Given the description of an element on the screen output the (x, y) to click on. 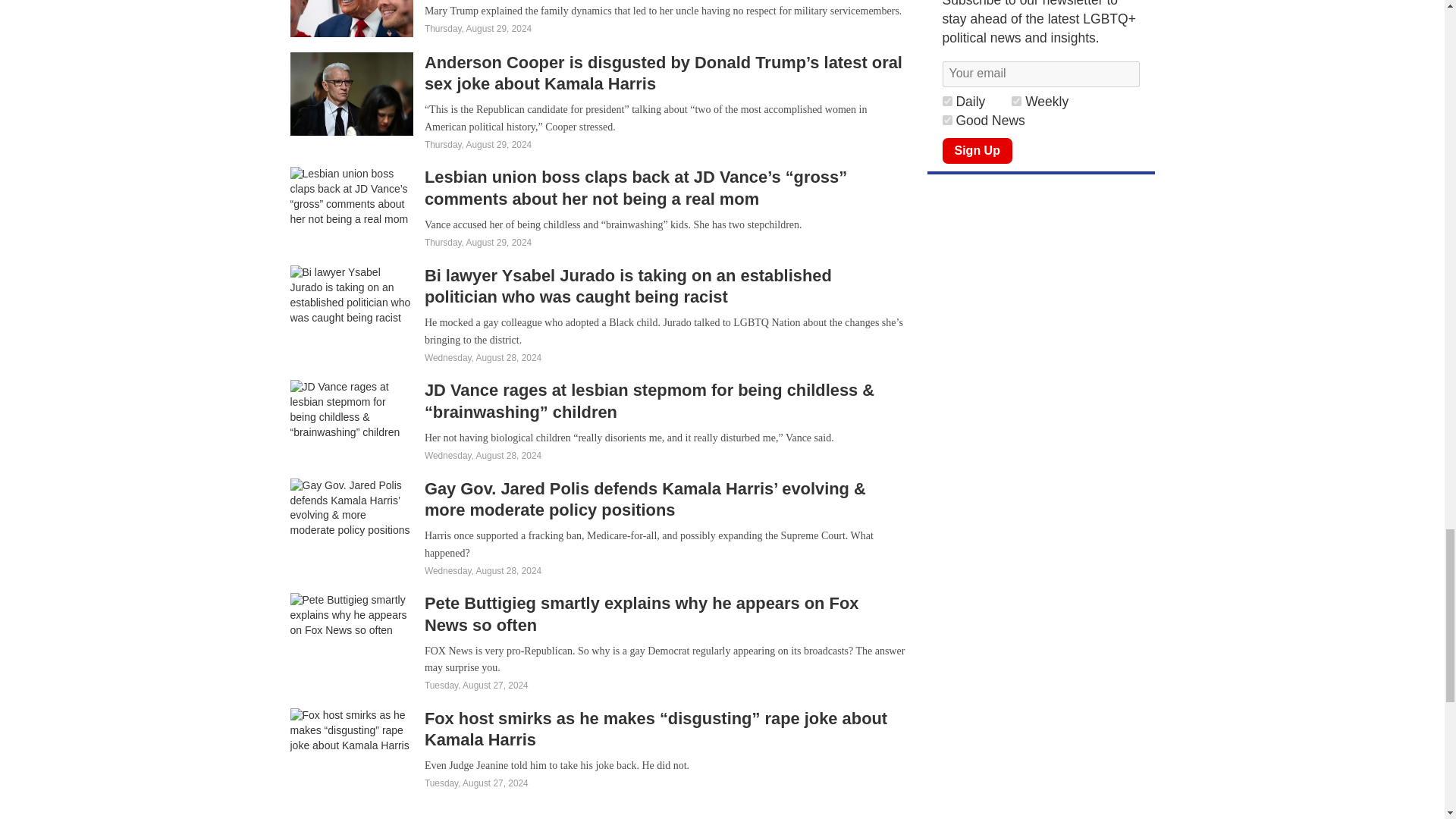
Sign Up (976, 150)
1920885 (947, 101)
1920883 (947, 120)
1920884 (1016, 101)
